Given the description of an element on the screen output the (x, y) to click on. 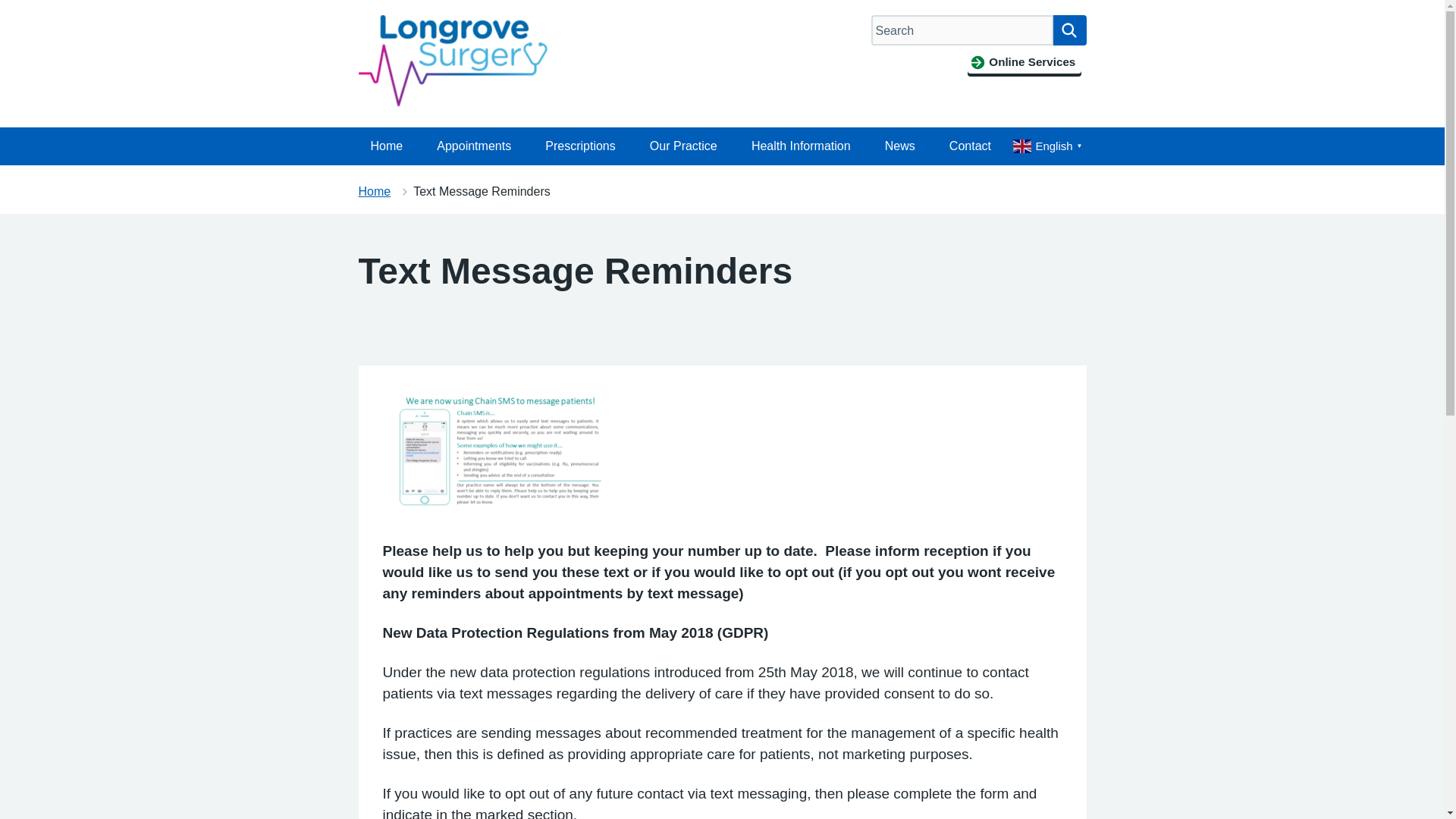
Health Information (801, 146)
Home (386, 146)
Online Services  (1024, 61)
Contact (970, 146)
Search (1069, 30)
Appointments (473, 146)
Prescriptions (579, 146)
News (899, 146)
Our Practice (683, 146)
